Given the description of an element on the screen output the (x, y) to click on. 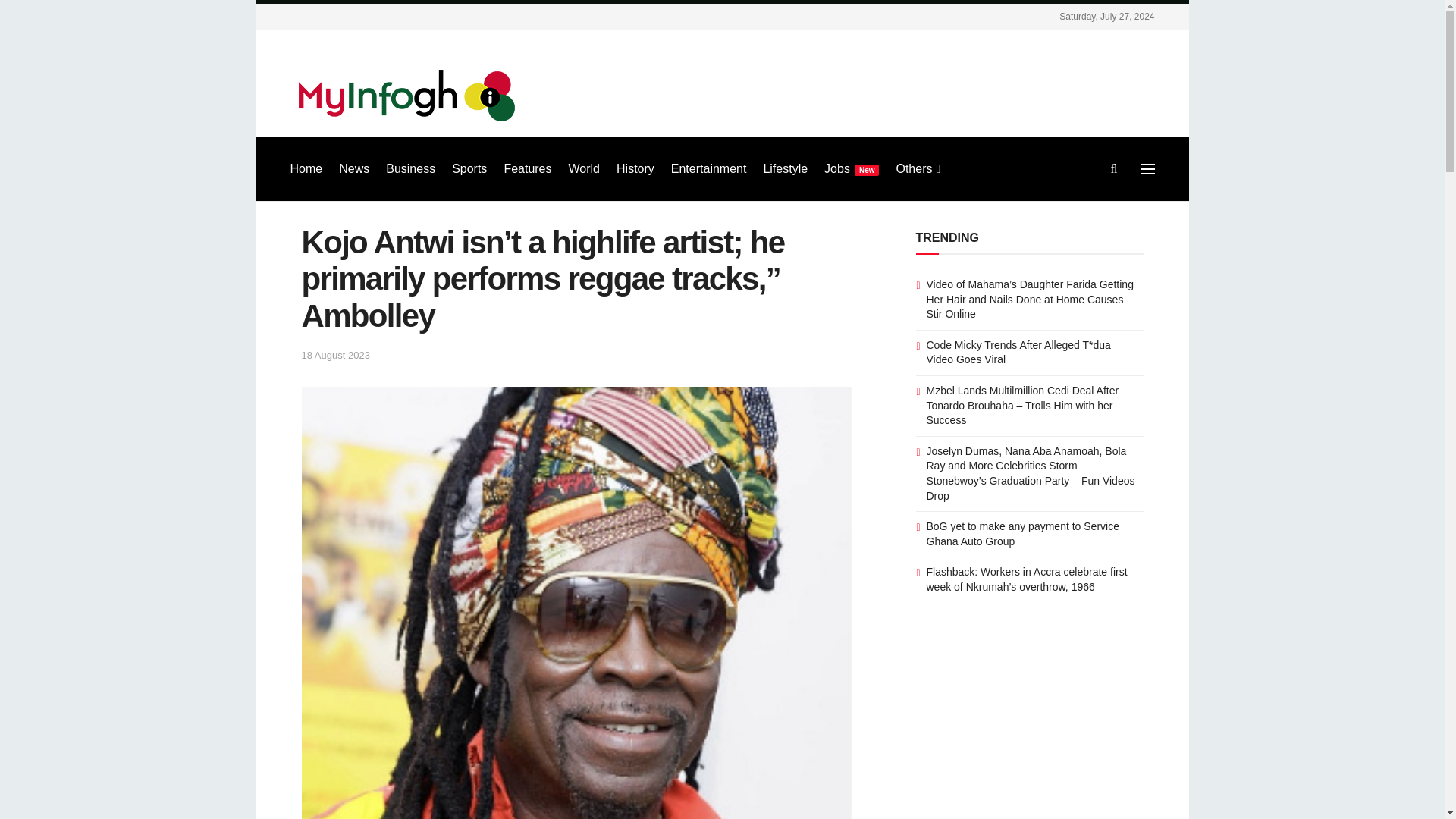
News (354, 169)
Sports (468, 169)
Home (305, 169)
Features (527, 169)
Lifestyle (785, 169)
JobsNew (851, 169)
World (584, 169)
History (634, 169)
Advertisement (878, 90)
Others (916, 169)
Entertainment (708, 169)
Advertisement (1028, 729)
Business (410, 169)
